Given the description of an element on the screen output the (x, y) to click on. 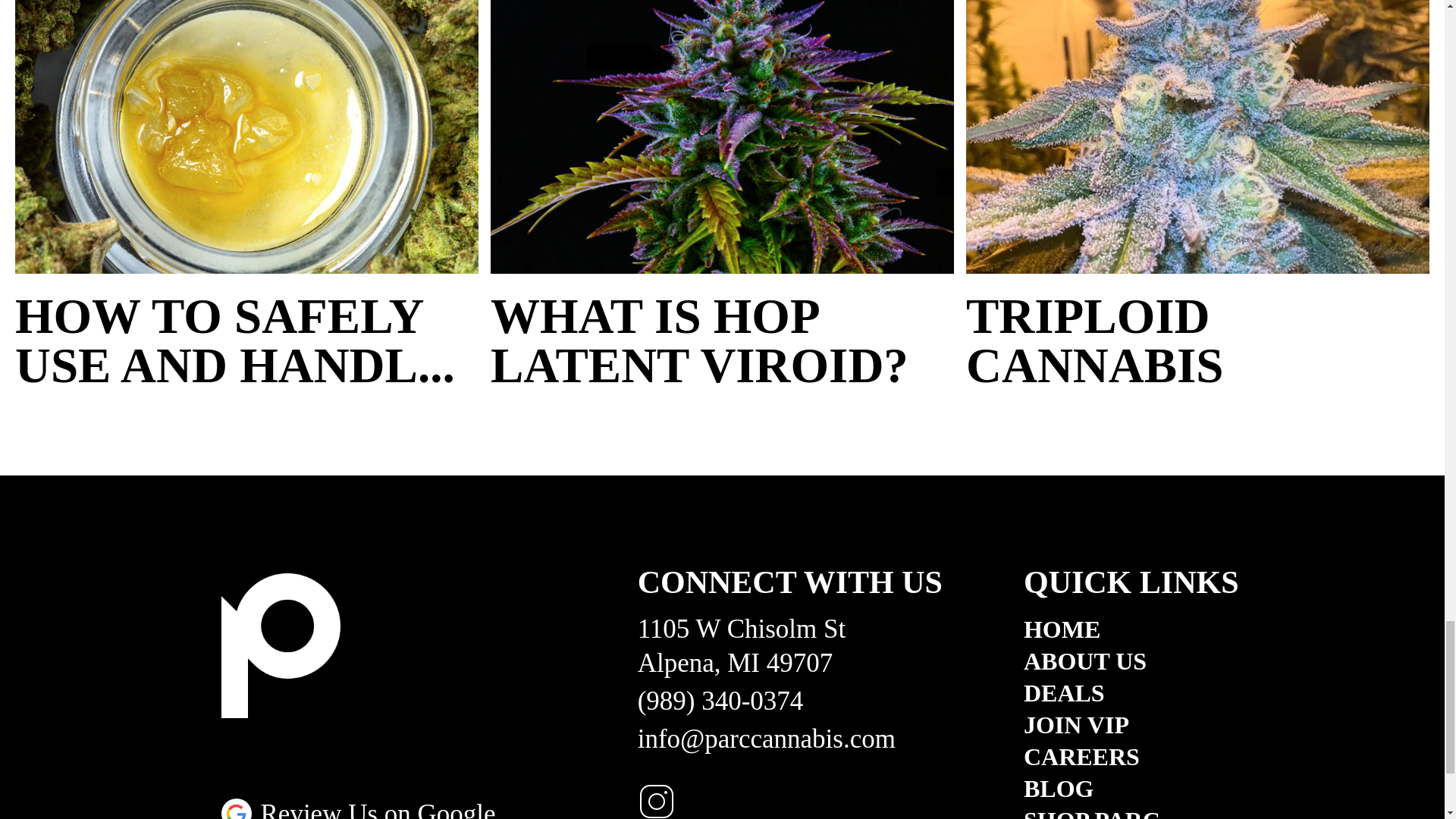
ABOUT US (1131, 661)
WHAT IS HOP LATENT VIROID? (721, 340)
JOIN VIP (1131, 724)
TRIPLOID CANNABIS (1197, 340)
HOW TO SAFELY USE AND HANDL... (246, 340)
SHOP PARC (1131, 813)
BLOG (1131, 788)
Review Us on Google (358, 808)
HOME (1131, 629)
CAREERS (1131, 756)
DEALS (1131, 692)
